Given the description of an element on the screen output the (x, y) to click on. 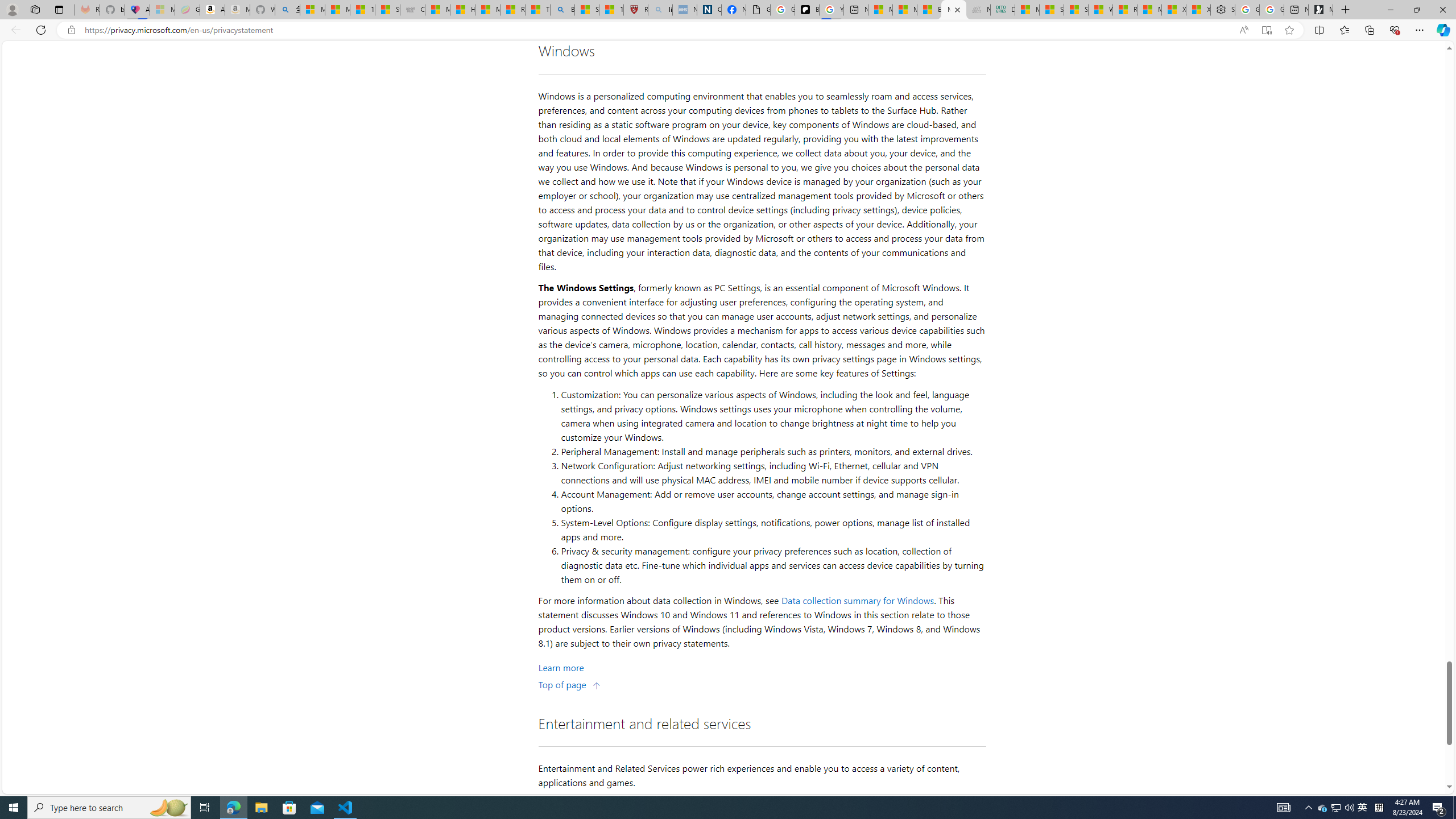
How I Got Rid of Microsoft Edge's Unnecessary Features (462, 9)
12 Popular Science Lies that Must be Corrected (611, 9)
Asthma Inhalers: Names and Types (136, 9)
